Given the description of an element on the screen output the (x, y) to click on. 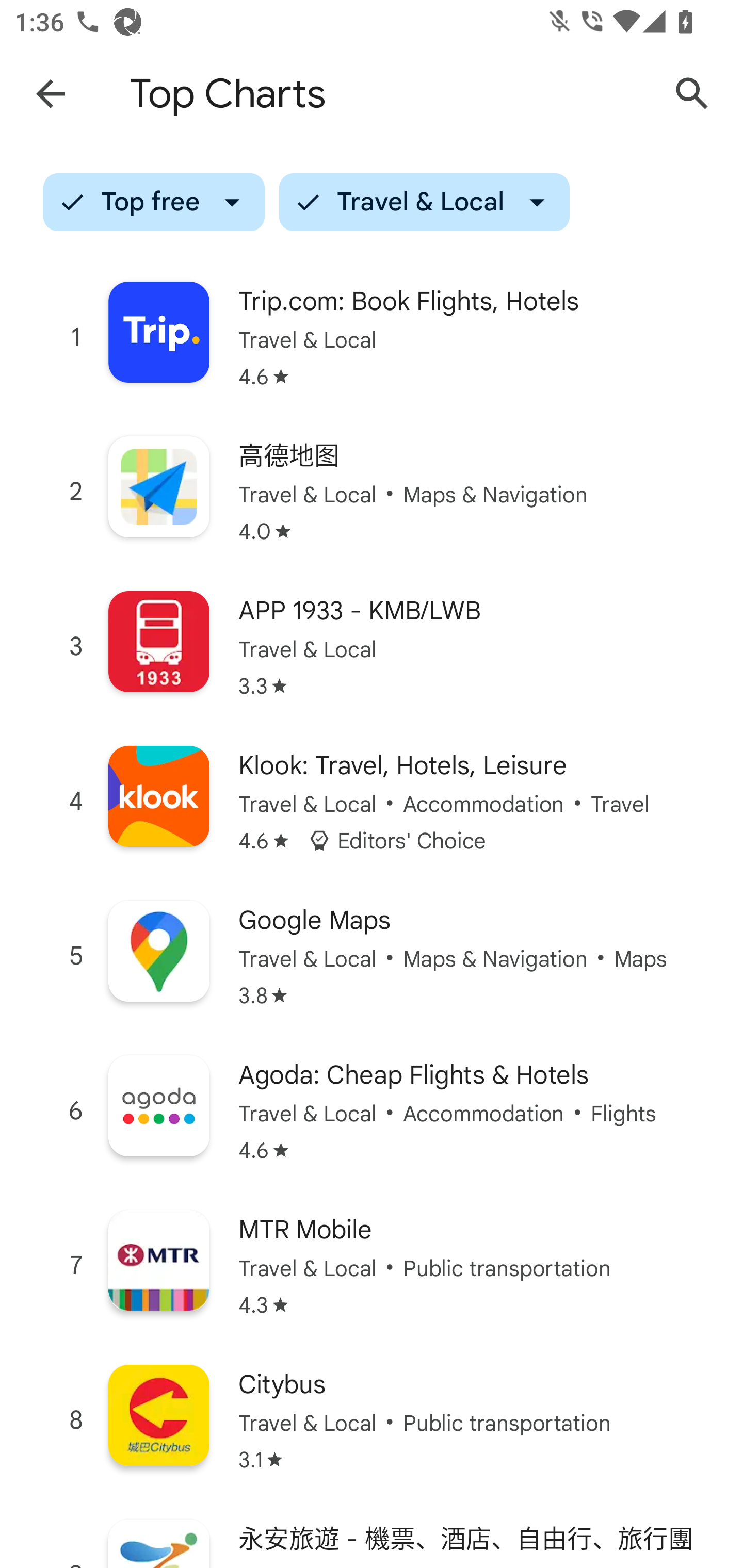
Navigate up (50, 93)
Search Google Play (692, 93)
